Given the description of an element on the screen output the (x, y) to click on. 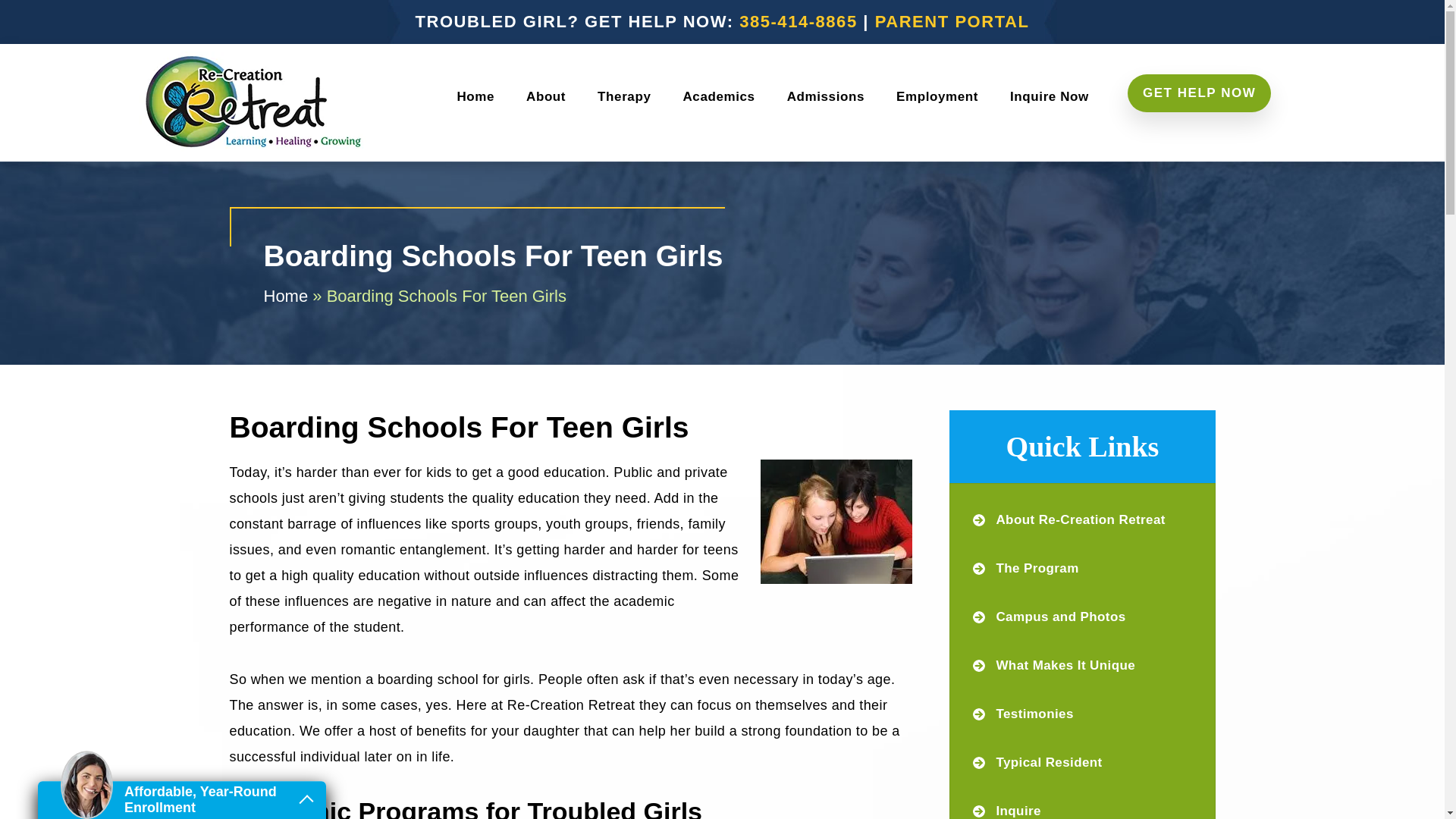
Therapy (624, 93)
About (545, 93)
Home (475, 93)
PARENT PORTAL (952, 21)
385-414-8865 (798, 21)
